Given the description of an element on the screen output the (x, y) to click on. 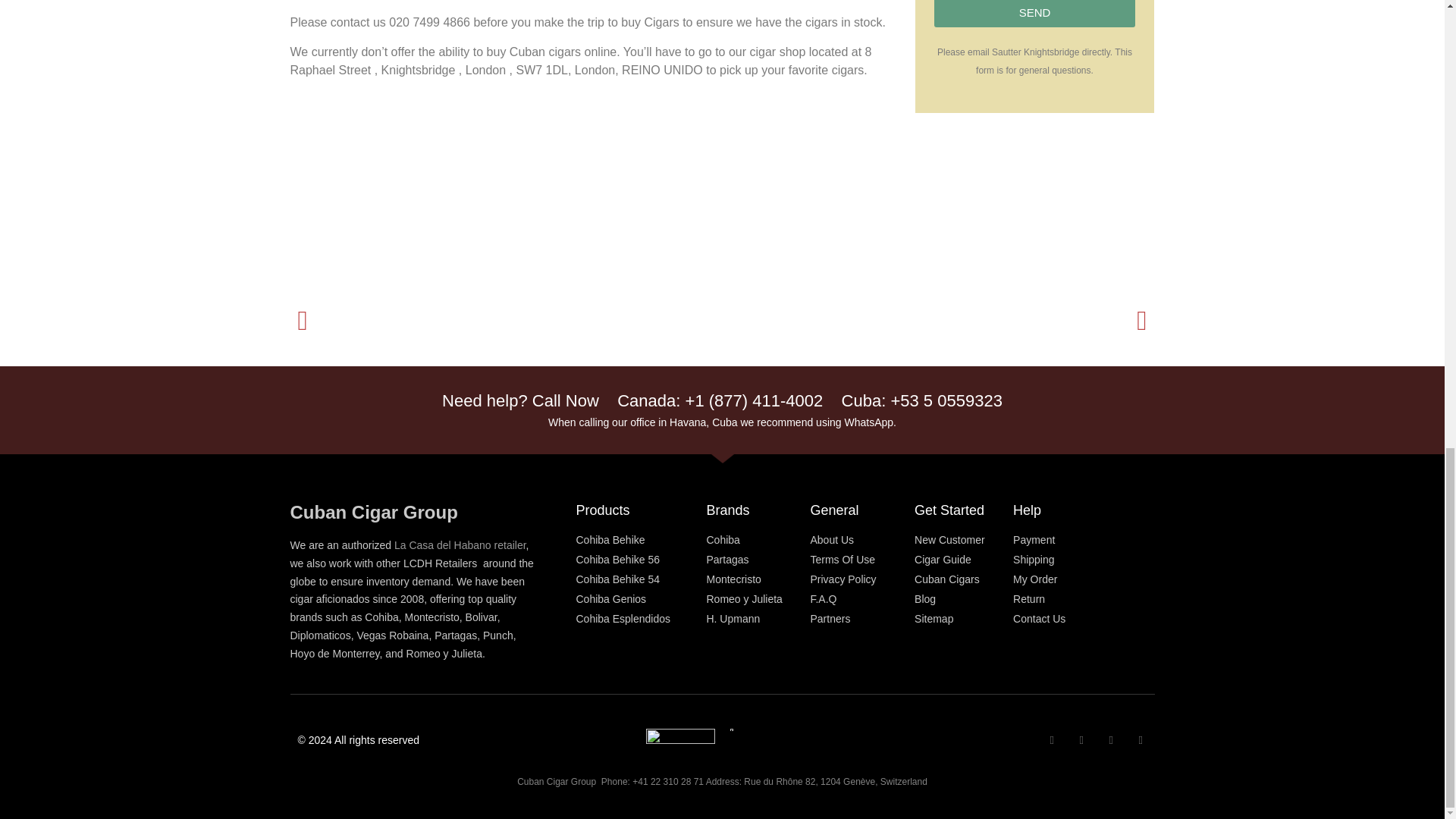
SEND (1034, 13)
